Given the description of an element on the screen output the (x, y) to click on. 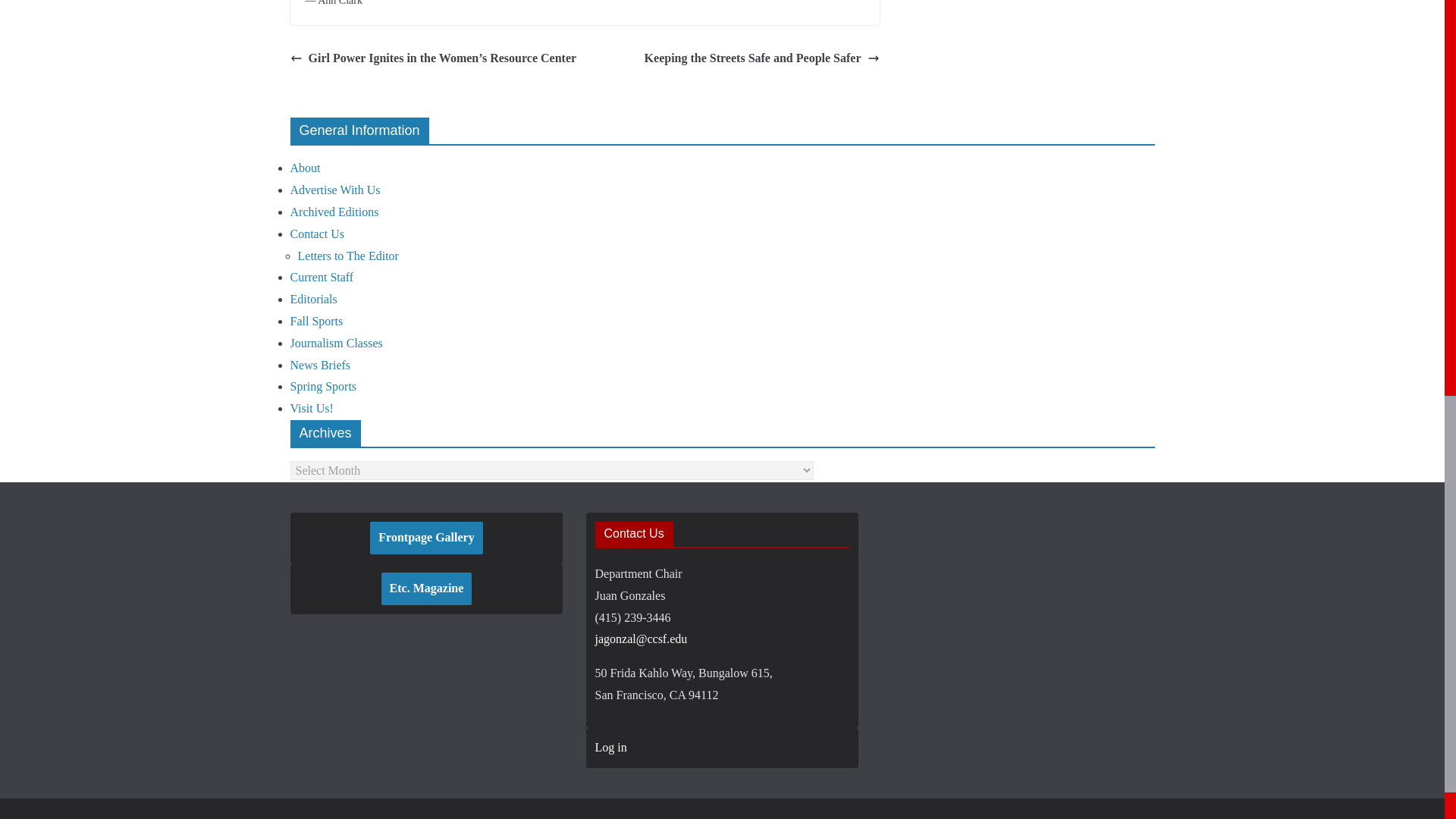
Advertise With Us (334, 189)
Keeping the Streets Safe and People Safer (762, 58)
Current Staff (321, 277)
News Briefs (319, 364)
Letters to The Editor (347, 255)
Fall Sports (315, 320)
Contact Us (316, 233)
Journalism Classes (335, 342)
Archived Editions (333, 211)
Spring Sports (322, 386)
About (304, 167)
Visit Us! (311, 408)
Editorials (312, 298)
